Given the description of an element on the screen output the (x, y) to click on. 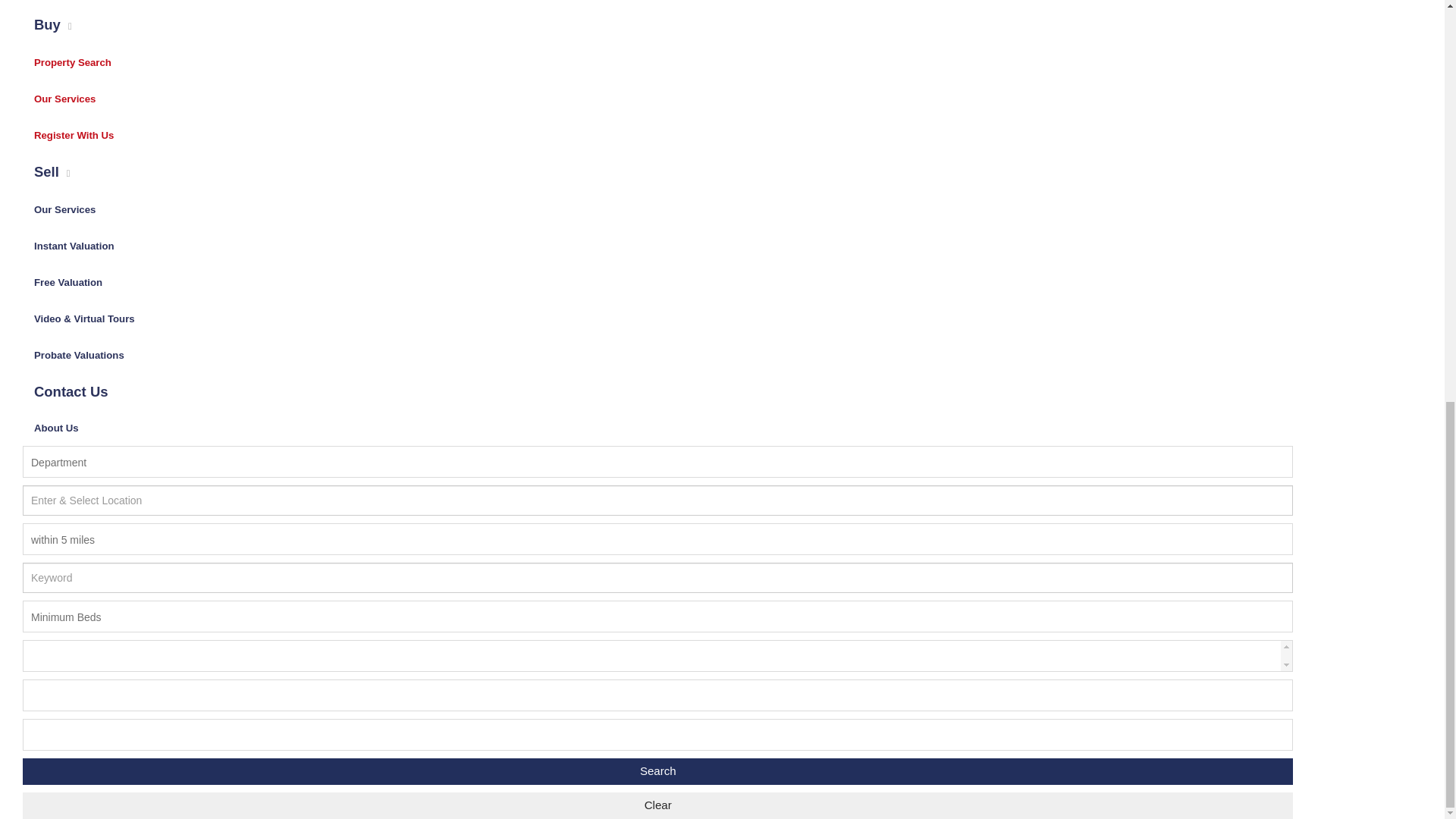
Our Services (64, 208)
Property Search (72, 62)
Free Valuation (68, 281)
Our Services (64, 98)
Home (84, 2)
Register With Us (74, 135)
Probate Valuations (79, 354)
Instant Valuation (74, 245)
